Given the description of an element on the screen output the (x, y) to click on. 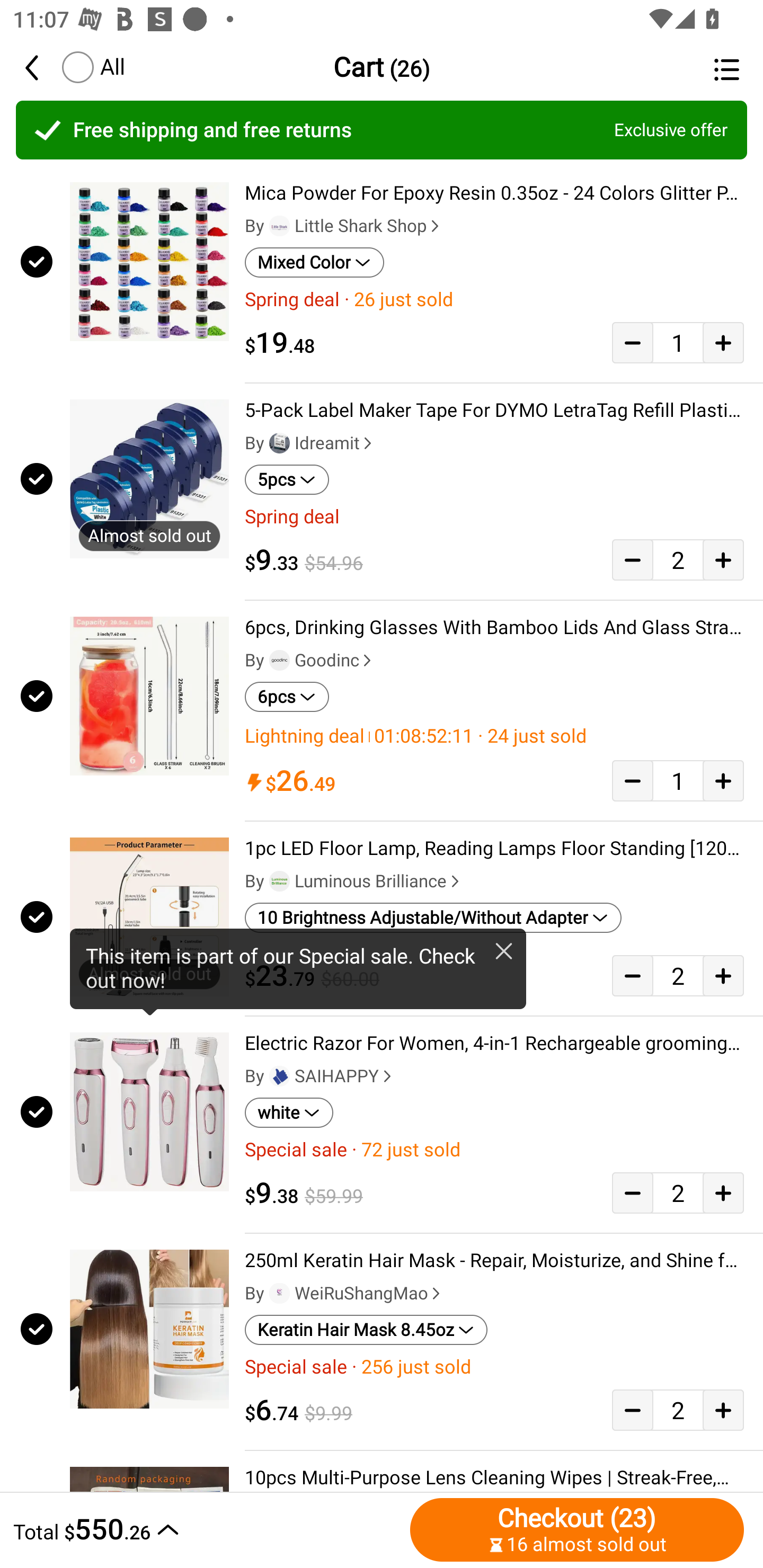
back (41, 67)
Select all tick button All (92, 67)
Free shipping and free returns Exclusive offer (381, 129)
Product checkbox checked (35, 260)
By Little Shark Shop (343, 226)
Mixed Color (313, 262)
Spring deal · 26 just sold (493, 299)
Decrease quantity button (632, 342)
1 (677, 342)
Add quantity button (722, 342)
Product checkbox checked (35, 478)
By Idreamit (309, 442)
5pcs (286, 479)
Spring deal (493, 517)
Decrease quantity button (632, 559)
2 (677, 559)
Add quantity button (722, 559)
Product checkbox checked (35, 696)
By Goodinc (309, 660)
6pcs (286, 696)
Lightning deal | ￼ · 24 just sold (493, 735)
Decrease quantity button (632, 780)
1 (677, 780)
Add quantity button (722, 780)
Product checkbox checked (35, 916)
By Luminous Brilliance (353, 881)
10 Brightness Adjustable/Without Adapter (432, 917)
Decrease quantity button (632, 974)
2 (677, 974)
Add quantity button (722, 974)
Product checkbox checked (35, 1112)
By SAIHAPPY (319, 1076)
white (288, 1112)
Special sale · 72 just sold (493, 1149)
Decrease quantity button (632, 1192)
2 (677, 1192)
Add quantity button (722, 1192)
Product checkbox checked (35, 1328)
By WeiRuShangMao (344, 1292)
Keratin Hair Mask 8.45oz (365, 1330)
Decrease quantity button (632, 1409)
2 (677, 1409)
Add quantity button (722, 1409)
Total $550.26 (206, 1529)
Checkout Checkout (23) ￼16 almost sold out (576, 1529)
